Given the description of an element on the screen output the (x, y) to click on. 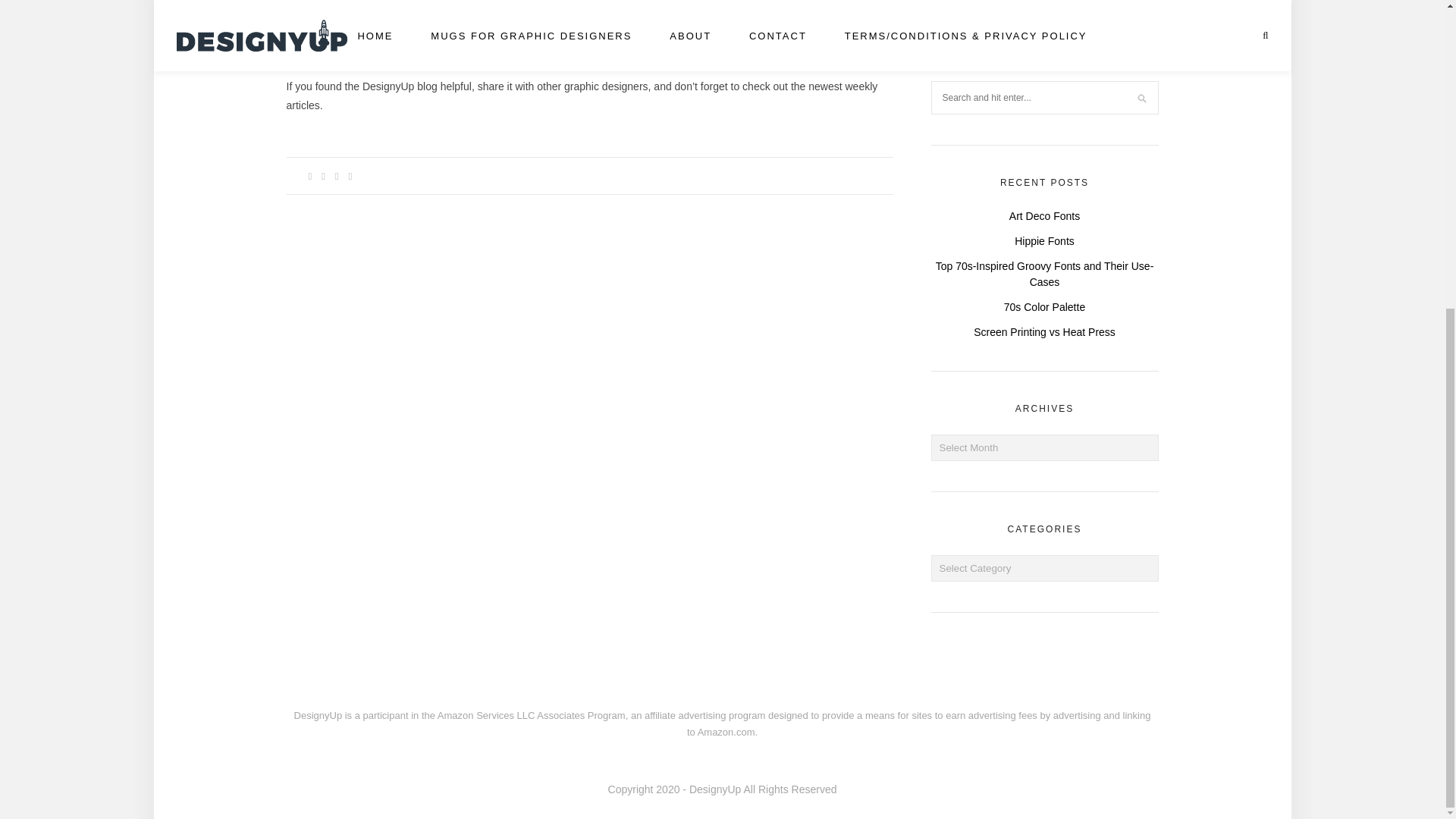
Hippie Fonts (1044, 240)
Screen Printing vs Heat Press (1044, 331)
Art Deco Fonts (1044, 215)
Top 70s-Inspired Groovy Fonts and Their Use-Cases (1045, 274)
70s Color Palette (1044, 306)
